Given the description of an element on the screen output the (x, y) to click on. 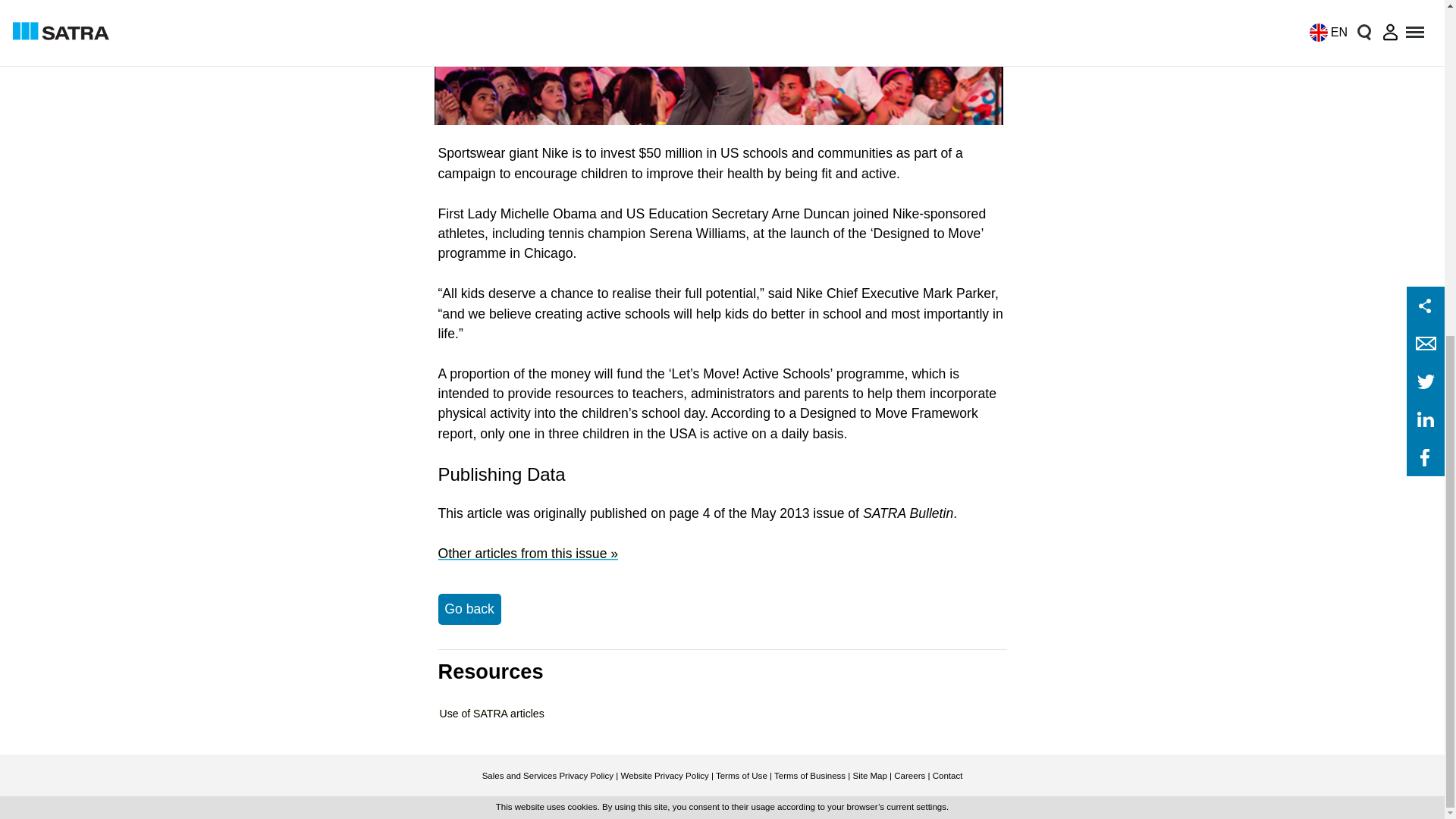
Go back (469, 608)
Use of SATRA articles (491, 713)
